Given the description of an element on the screen output the (x, y) to click on. 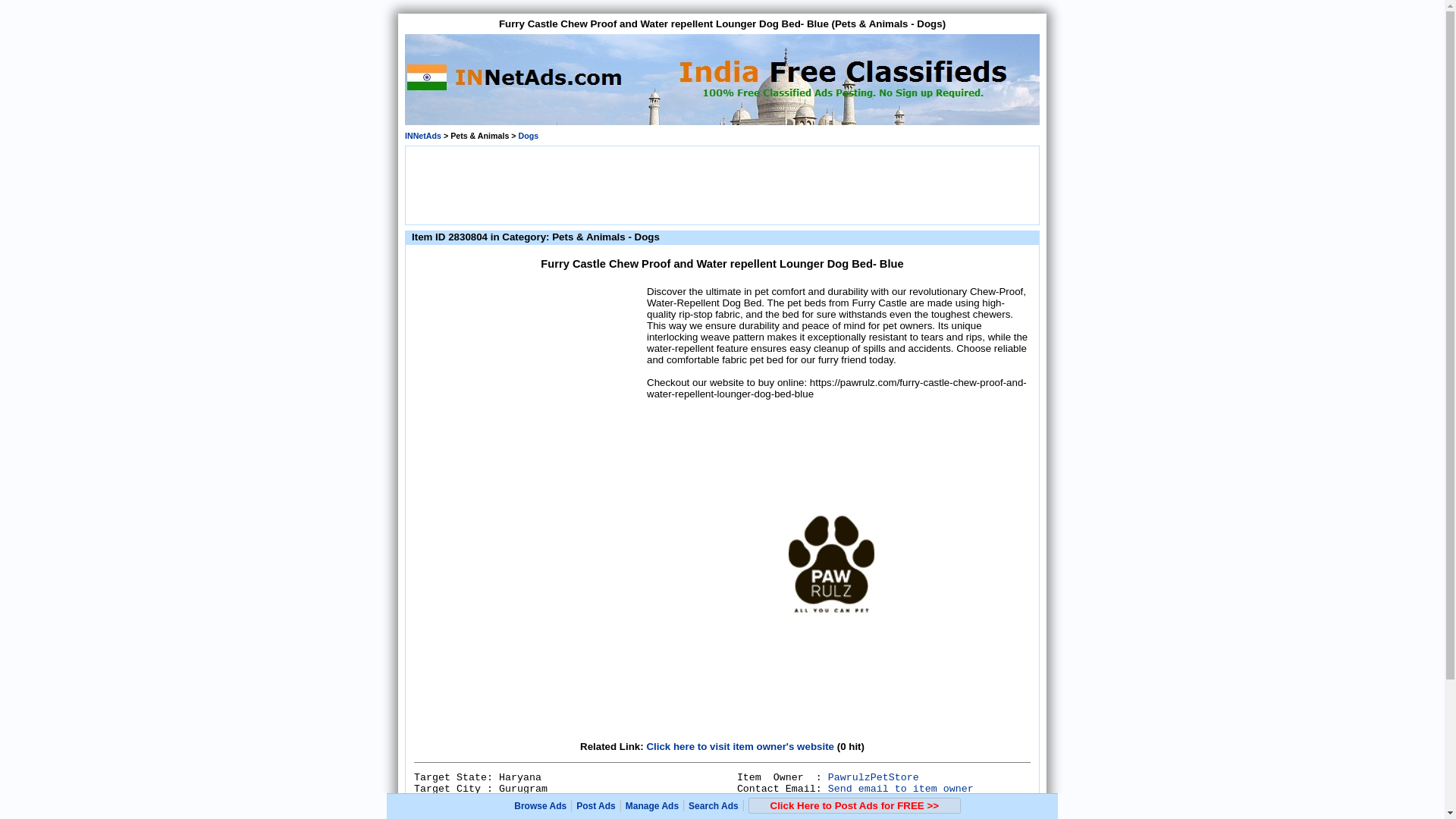
Manage Ads (652, 805)
Go Back to INNetAds.com Home Page (422, 135)
Browse all items posted by this owner (873, 777)
Click here to visit item owner's website (740, 746)
Advertisement (527, 379)
Post Ads (595, 805)
Dogs (528, 135)
Browse Ads (539, 805)
Search Ads (713, 805)
Send email to item owner (901, 788)
PawrulzPetStore (873, 777)
INNetAds (422, 135)
Advertisement (721, 183)
